Given the description of an element on the screen output the (x, y) to click on. 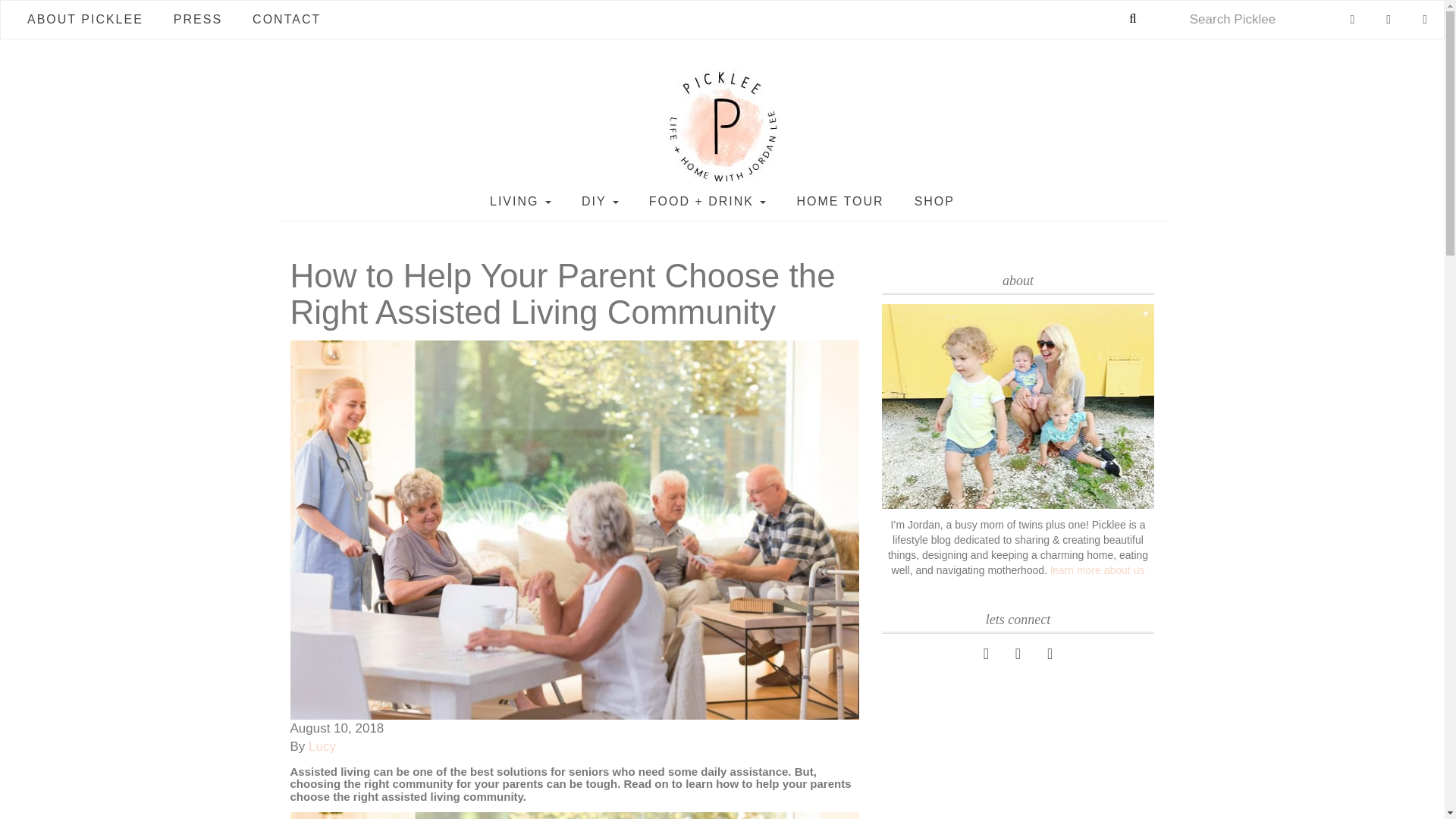
SHOP (934, 201)
HOME TOUR (839, 201)
ABOUT PICKLEE (84, 19)
LIVING (520, 201)
DIY (599, 201)
CONTACT (286, 19)
PRESS (197, 19)
